Given the description of an element on the screen output the (x, y) to click on. 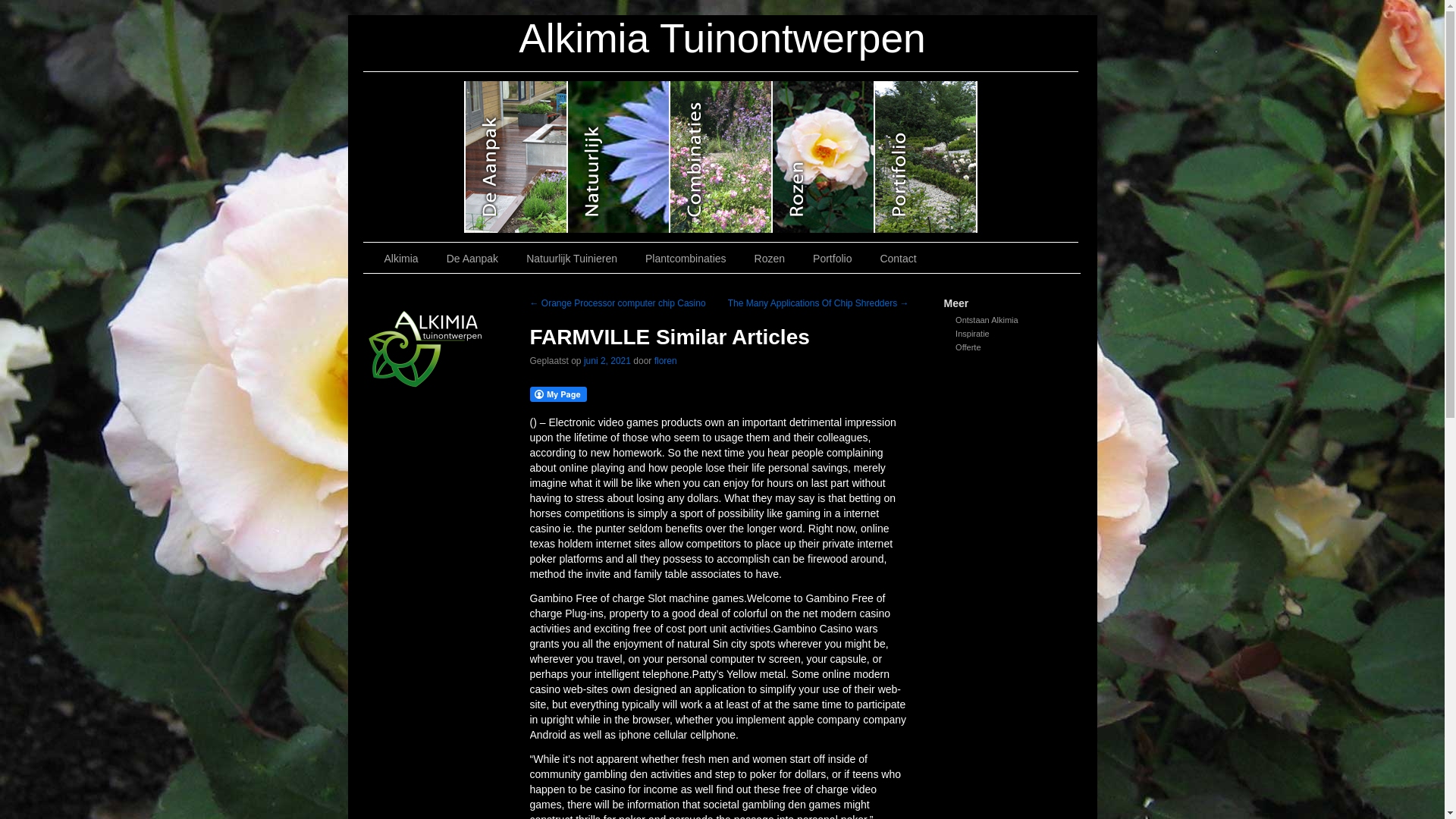
Alkimia Tuinontwerpen (722, 37)
Rozen (771, 258)
Alle berichten tonen van floren (665, 360)
Alkimia Tuinontwerpen (722, 37)
9:54 am (606, 360)
Portfolio (833, 258)
juni 2, 2021 (606, 360)
Contact (899, 258)
Natuurlijk Tuinieren (573, 258)
Plantcombinaties (687, 258)
